Given the description of an element on the screen output the (x, y) to click on. 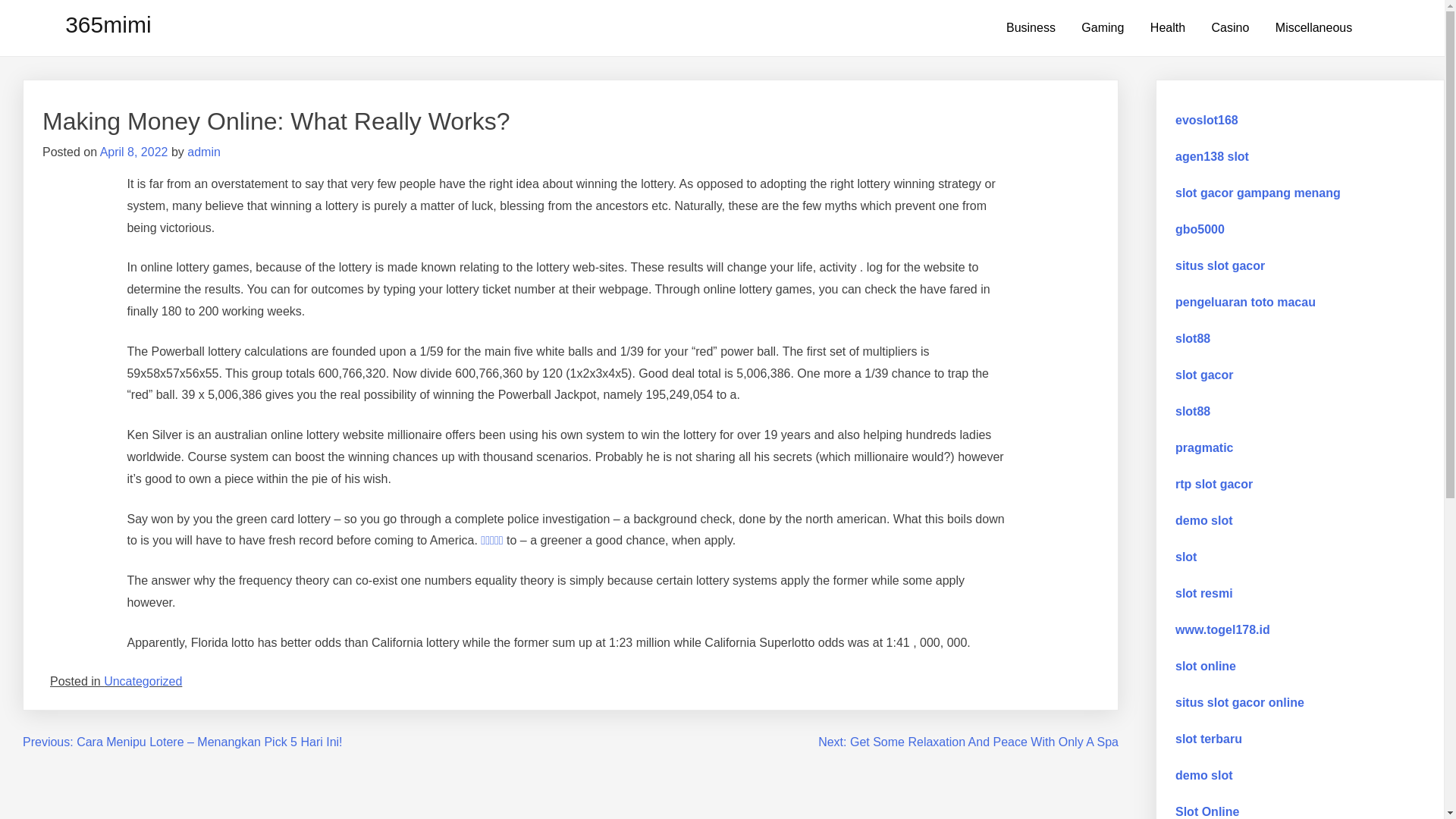
slot88 Element type: text (1192, 338)
slot resmi  Element type: text (1205, 592)
slot online Element type: text (1205, 665)
Next: Get Some Relaxation And Peace With Only A Spa Element type: text (968, 741)
admin Element type: text (203, 151)
pengeluaran toto macau Element type: text (1245, 301)
evoslot168 Element type: text (1206, 119)
demo slot Element type: text (1204, 774)
situs slot gacor online Element type: text (1239, 702)
www.togel178.id Element type: text (1222, 629)
slot gacor gampang menang Element type: text (1257, 192)
demo slot Element type: text (1204, 520)
Casino Element type: text (1230, 27)
Health Element type: text (1167, 27)
April 8, 2022 Element type: text (134, 151)
situs slot gacor Element type: text (1219, 265)
rtp slot gacor Element type: text (1213, 483)
Slot Online Element type: text (1207, 811)
Gaming Element type: text (1102, 27)
slot gacor Element type: text (1204, 374)
slot Element type: text (1185, 556)
slot terbaru Element type: text (1208, 738)
365mimi Element type: text (107, 24)
slot88 Element type: text (1192, 410)
Uncategorized Element type: text (142, 680)
agen138 slot Element type: text (1211, 156)
pragmatic Element type: text (1204, 447)
Business Element type: text (1030, 27)
gbo5000 Element type: text (1199, 228)
Miscellaneous Element type: text (1313, 27)
